Given the description of an element on the screen output the (x, y) to click on. 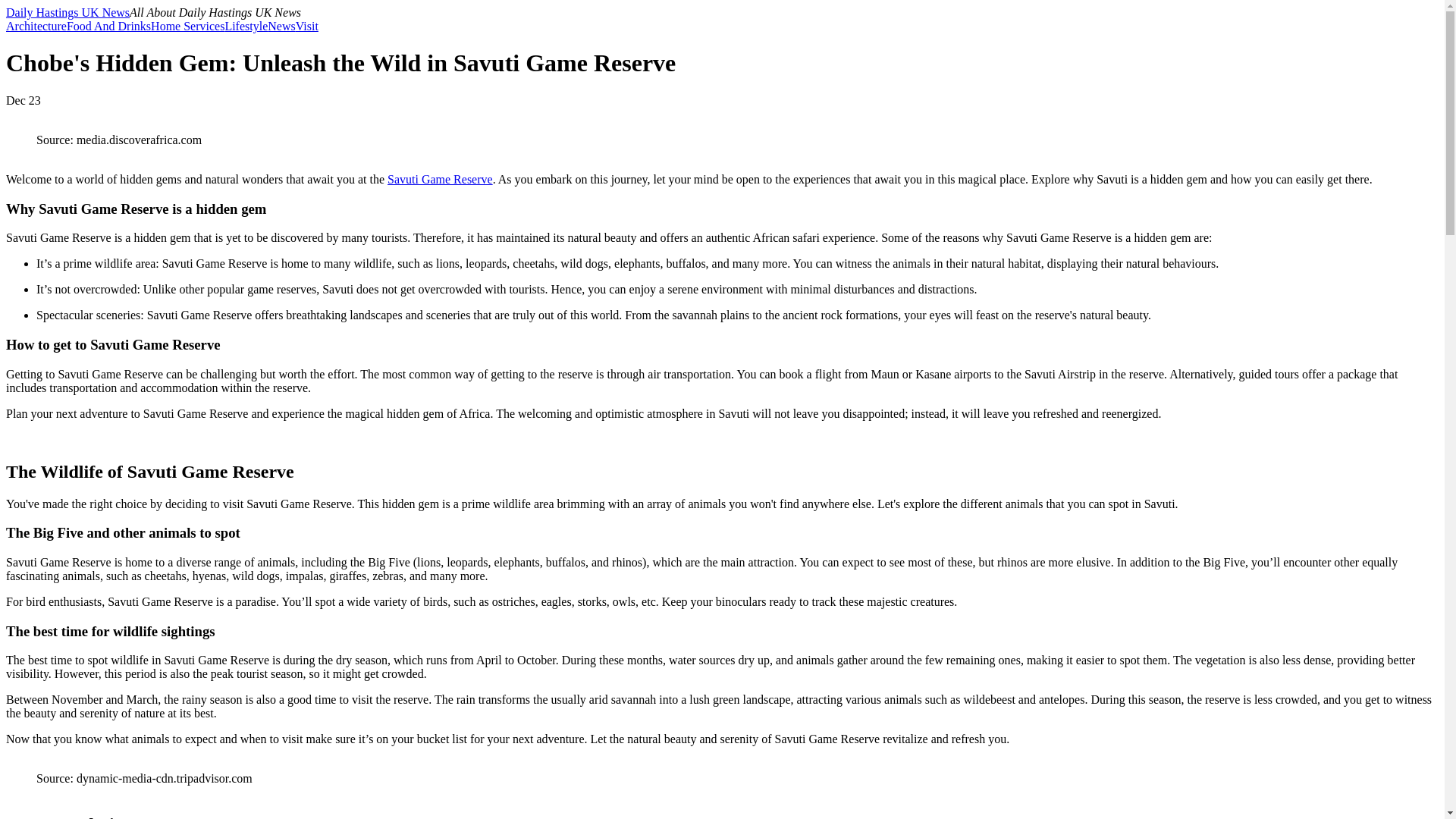
Home Services (187, 25)
News (281, 25)
Lifestyle (245, 25)
Food And Drinks (108, 25)
Architecture (35, 25)
Visit (306, 25)
Savuti Game Reserve (440, 178)
Daily Hastings UK News (67, 11)
